Given the description of an element on the screen output the (x, y) to click on. 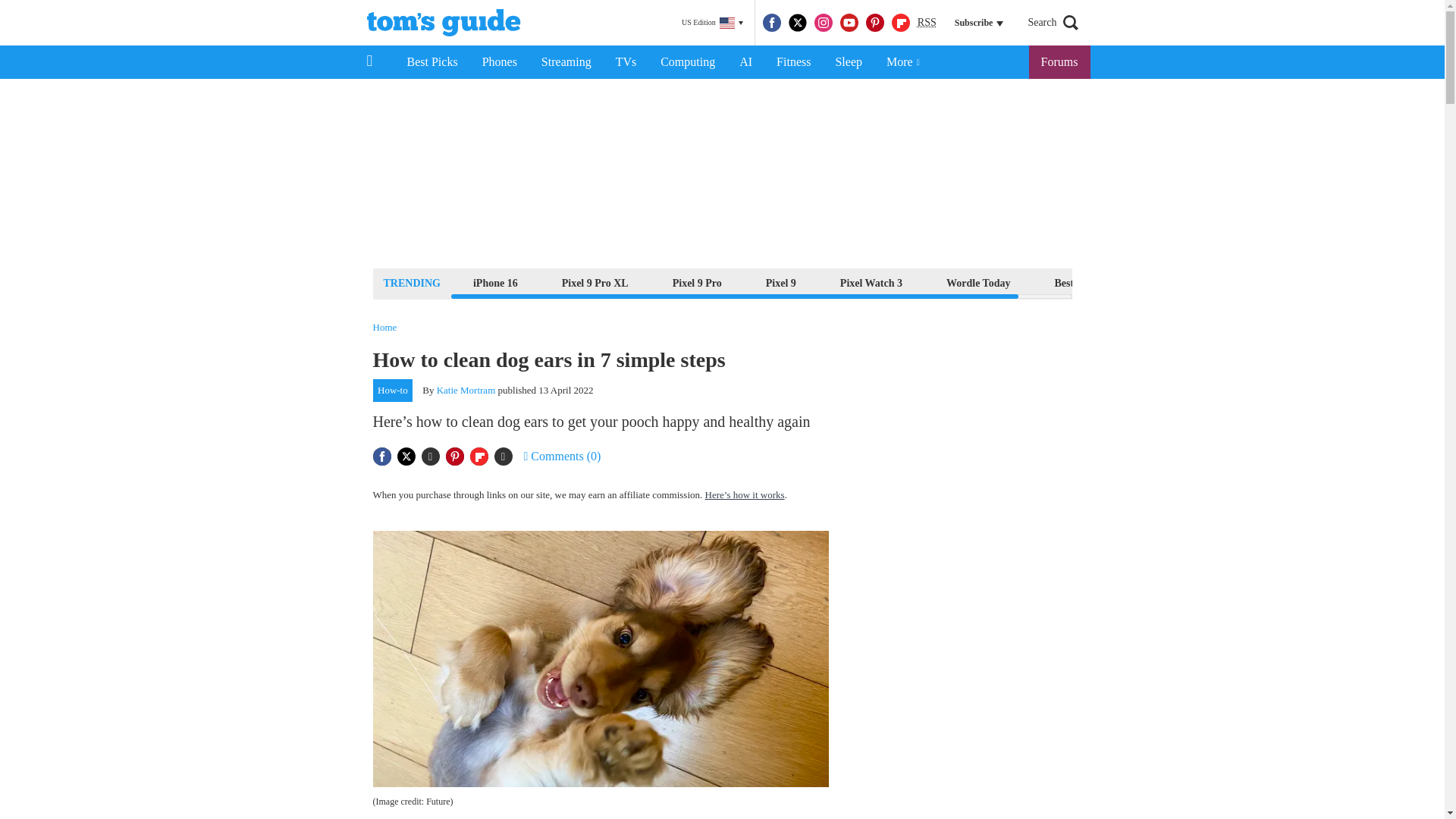
AI (745, 61)
Streaming (566, 61)
Sleep (848, 61)
TVs (626, 61)
Fitness (793, 61)
Really Simple Syndication (926, 21)
US Edition (712, 22)
Best Picks (431, 61)
RSS (926, 22)
Computing (686, 61)
